Given the description of an element on the screen output the (x, y) to click on. 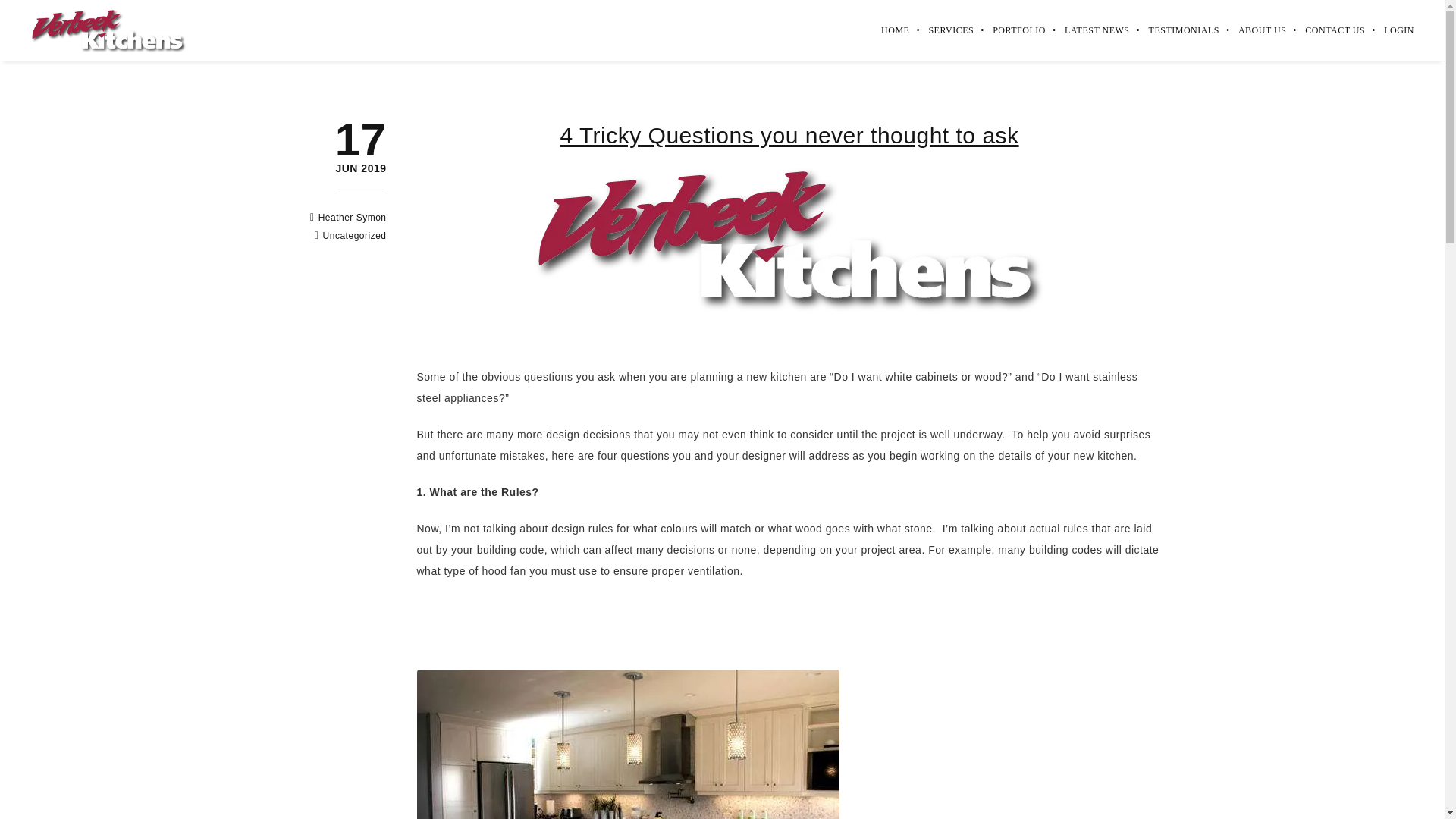
PORTFOLIO (1009, 30)
TESTIMONIALS (1174, 30)
Verbeek (360, 168)
Heather Symon (108, 30)
Uncategorized (352, 217)
Posts by Heather Symon (355, 235)
ABOUT US (352, 217)
CONTACT US (1252, 30)
LATEST NEWS (1325, 30)
